Given the description of an element on the screen output the (x, y) to click on. 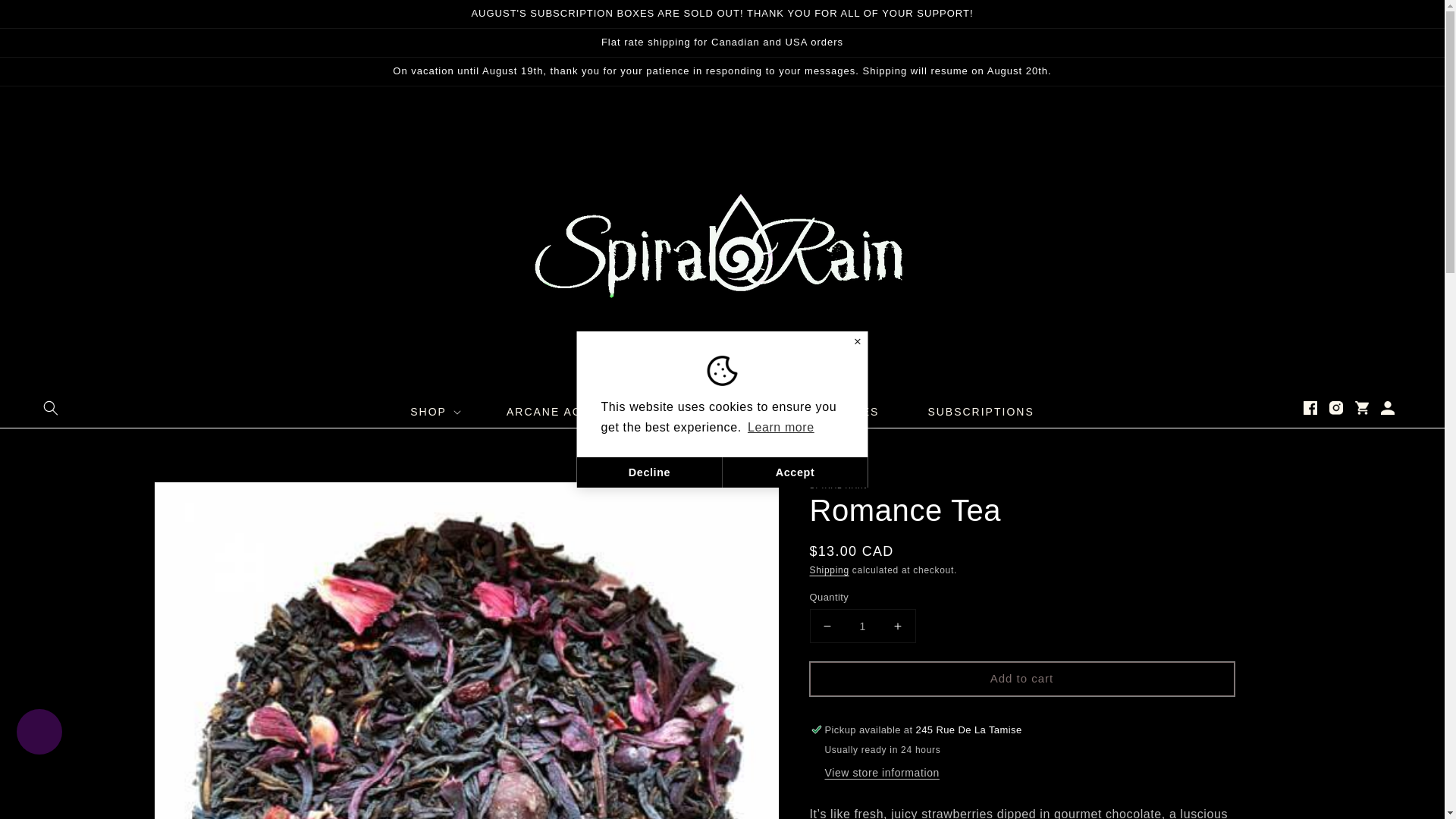
Decline (649, 472)
Shopify online store chat (38, 733)
Skip to content (45, 16)
Learn more (780, 427)
1 (862, 625)
Accept (794, 472)
